Given the description of an element on the screen output the (x, y) to click on. 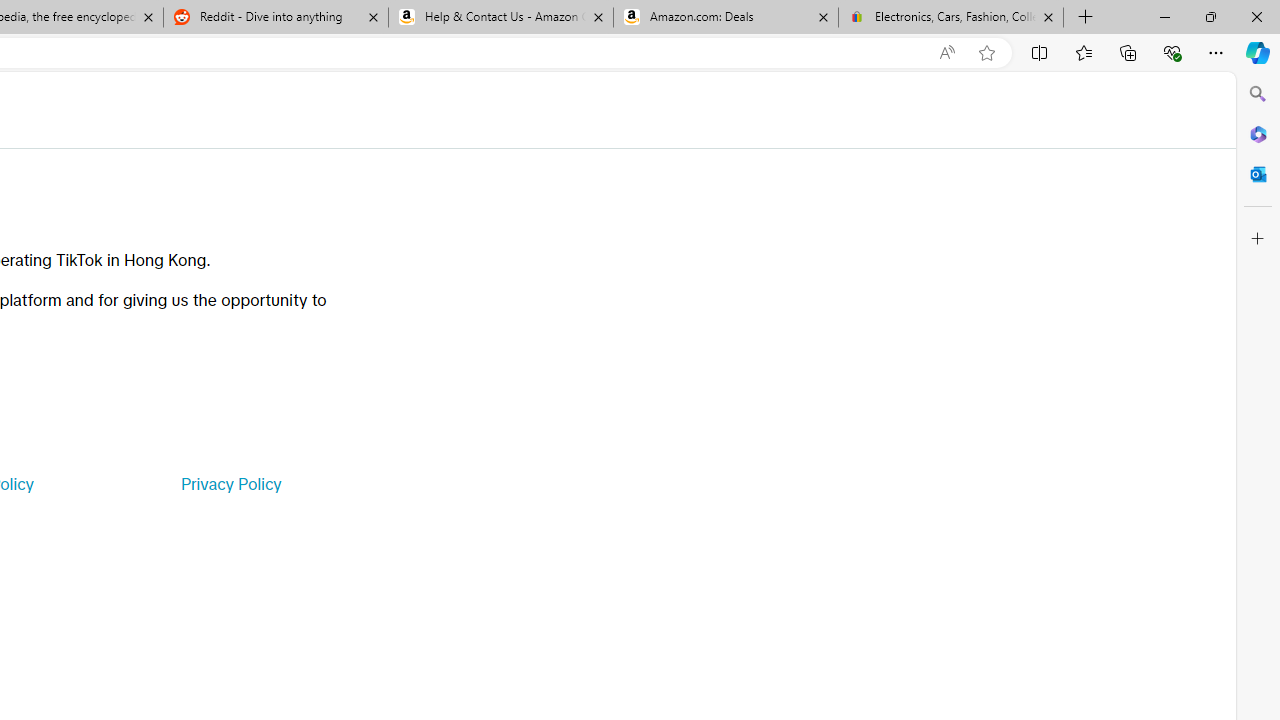
Reddit - Dive into anything (275, 17)
Microsoft 365 (1258, 133)
Help & Contact Us - Amazon Customer Service (501, 17)
Close Outlook pane (1258, 174)
Electronics, Cars, Fashion, Collectibles & More | eBay (950, 17)
Customize (1258, 239)
Privacy Policy (230, 484)
